Given the description of an element on the screen output the (x, y) to click on. 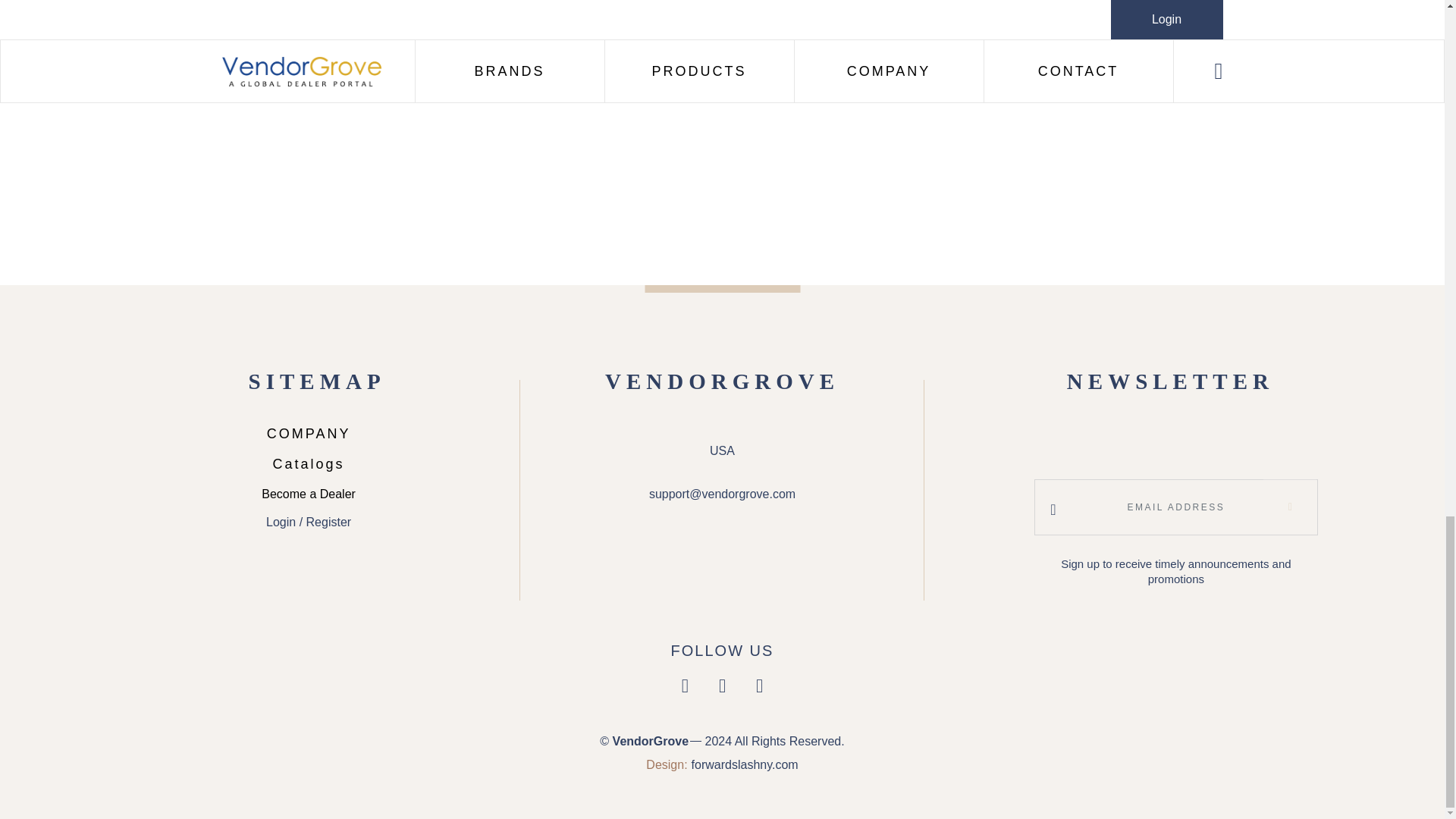
Sign up (1289, 506)
